Given the description of an element on the screen output the (x, y) to click on. 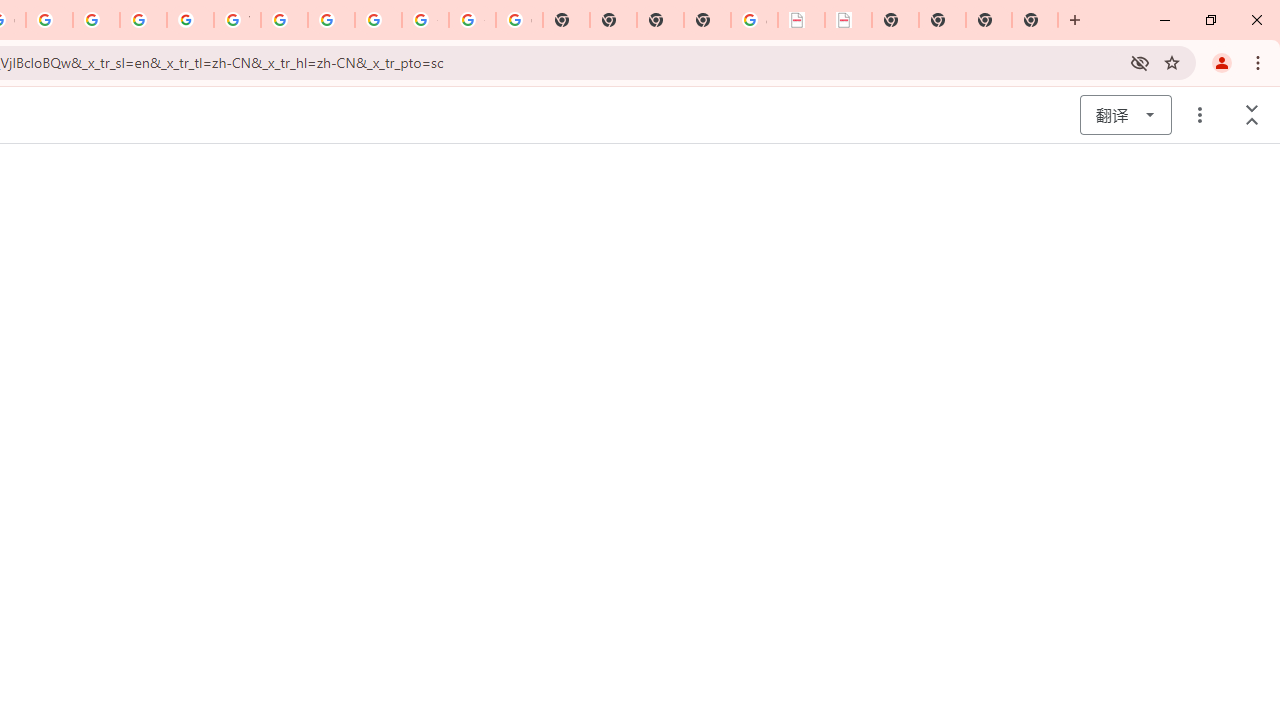
LAAD Defence & Security 2025 | BAE Systems (801, 20)
Google Images (518, 20)
New Tab (1035, 20)
YouTube (237, 20)
